Given the description of an element on the screen output the (x, y) to click on. 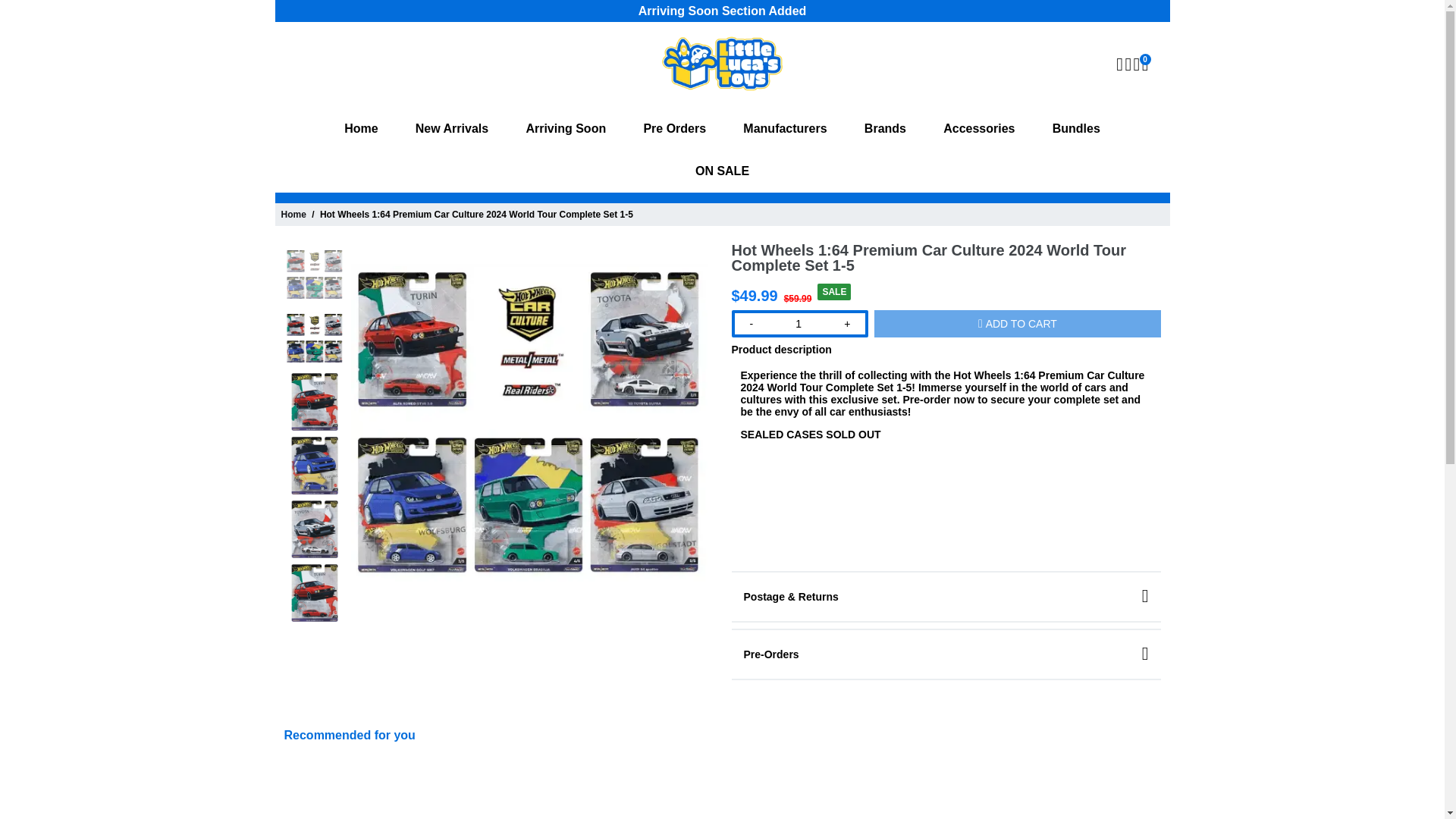
New Arrivals (451, 128)
Arriving Soon (566, 128)
Home (293, 214)
1 (798, 323)
Manufacturers (784, 128)
Pre Orders (673, 128)
Home (361, 128)
